Given the description of an element on the screen output the (x, y) to click on. 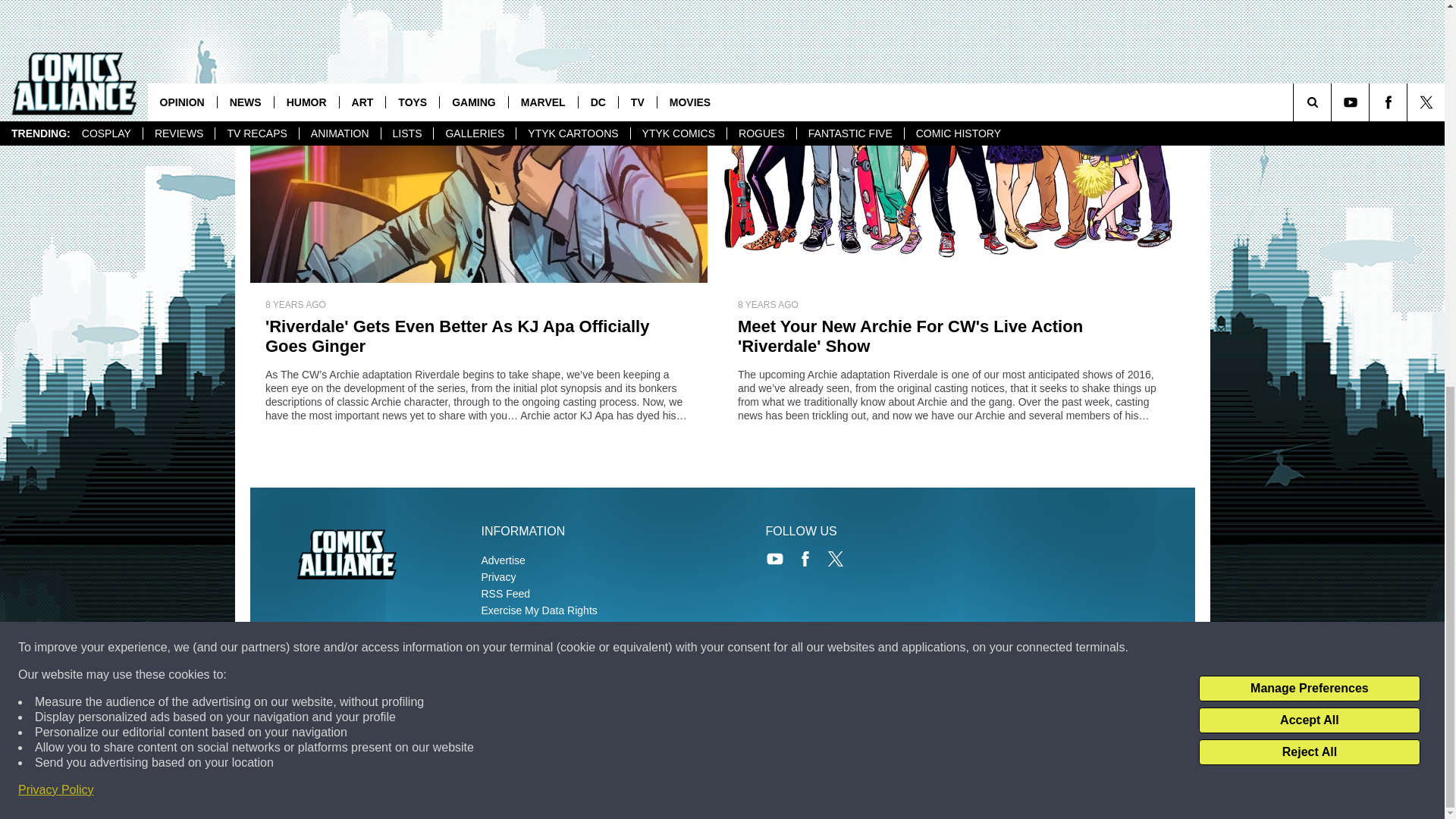
Accept All (1309, 1)
Reject All (1309, 22)
Privacy Policy (55, 59)
